Given the description of an element on the screen output the (x, y) to click on. 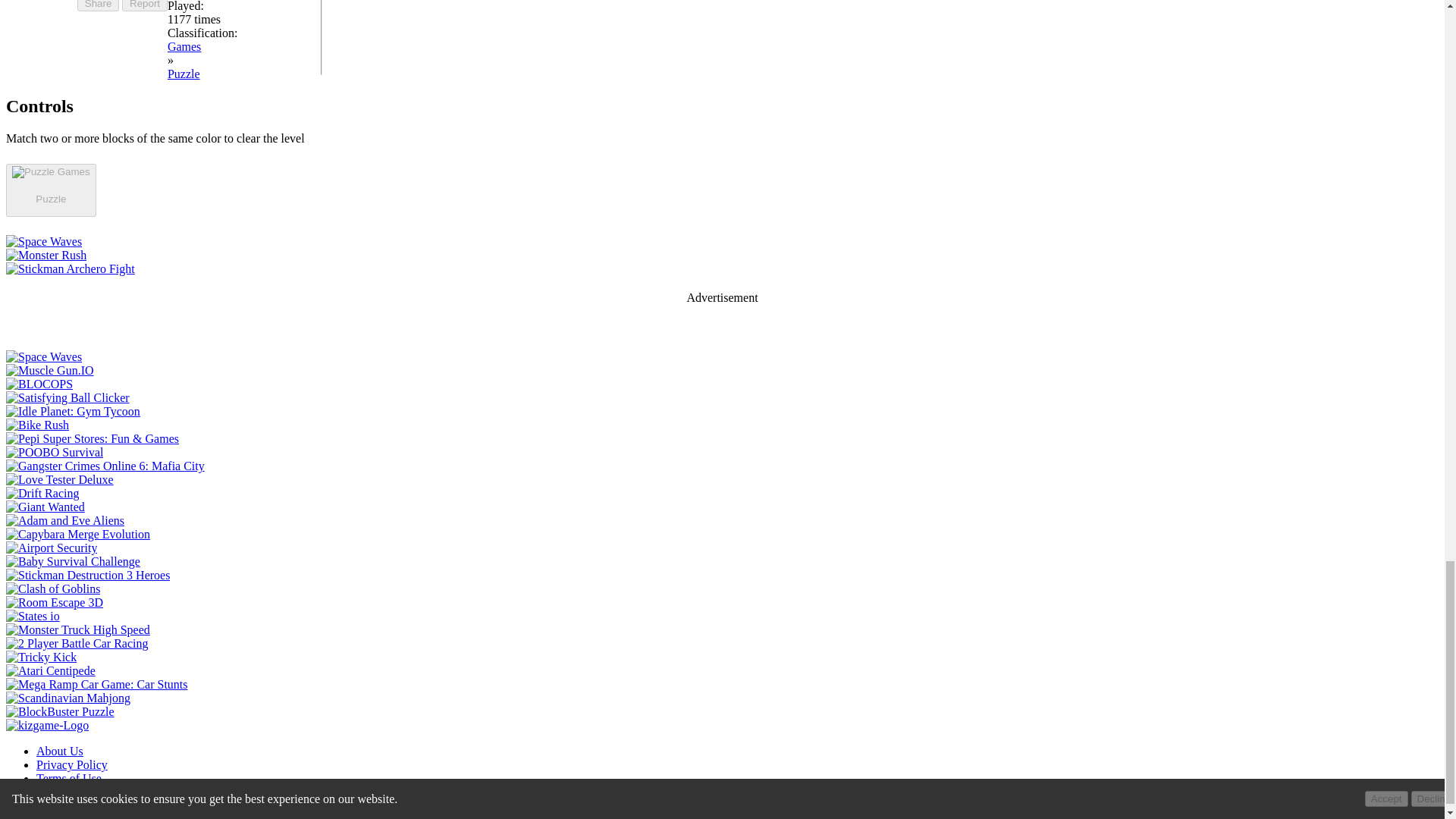
Games (183, 46)
Share (98, 5)
Report (144, 6)
Puzzle (183, 73)
Puzzle (50, 197)
